Given the description of an element on the screen output the (x, y) to click on. 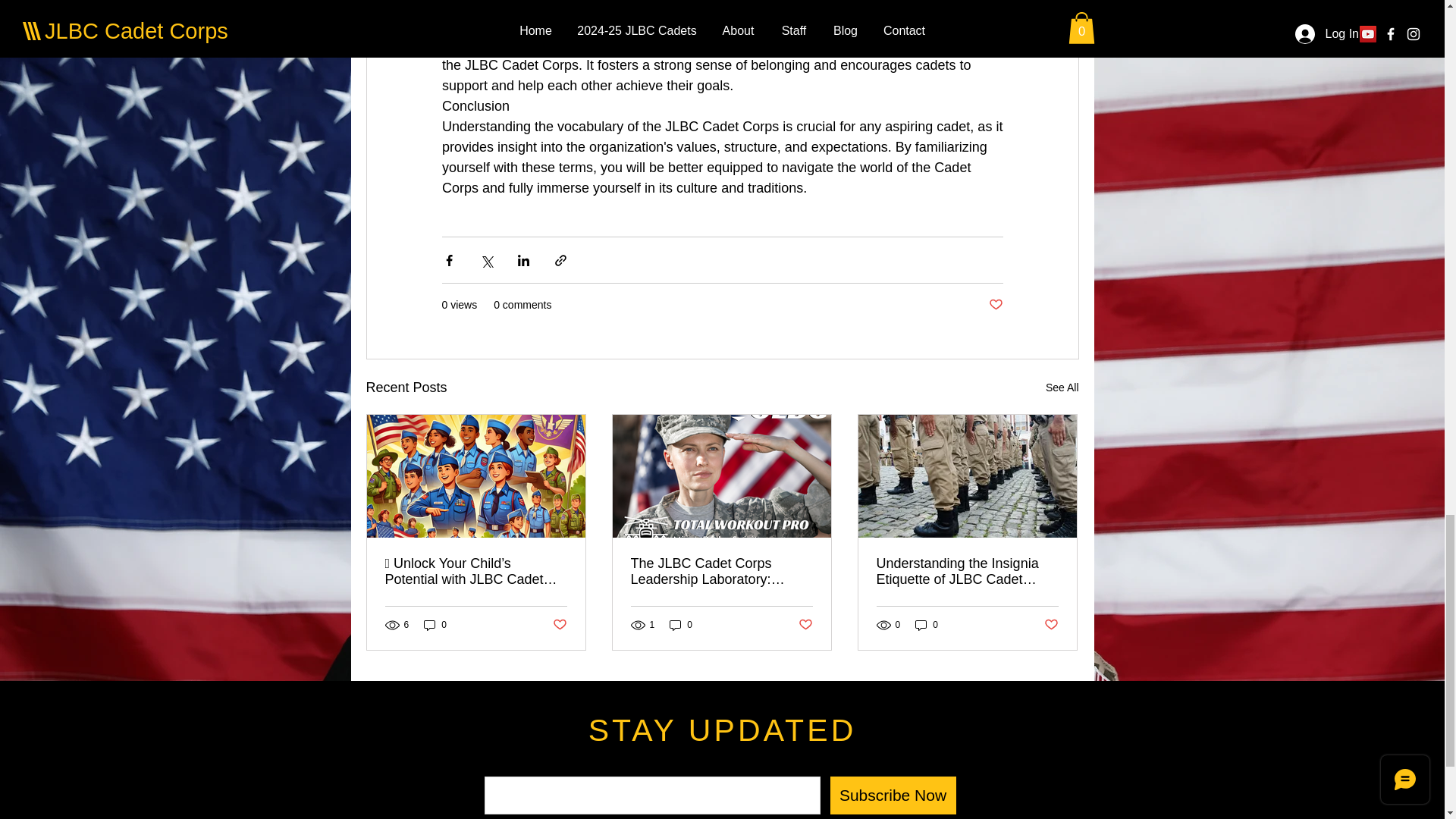
Post not marked as liked (995, 304)
See All (1061, 387)
